Given the description of an element on the screen output the (x, y) to click on. 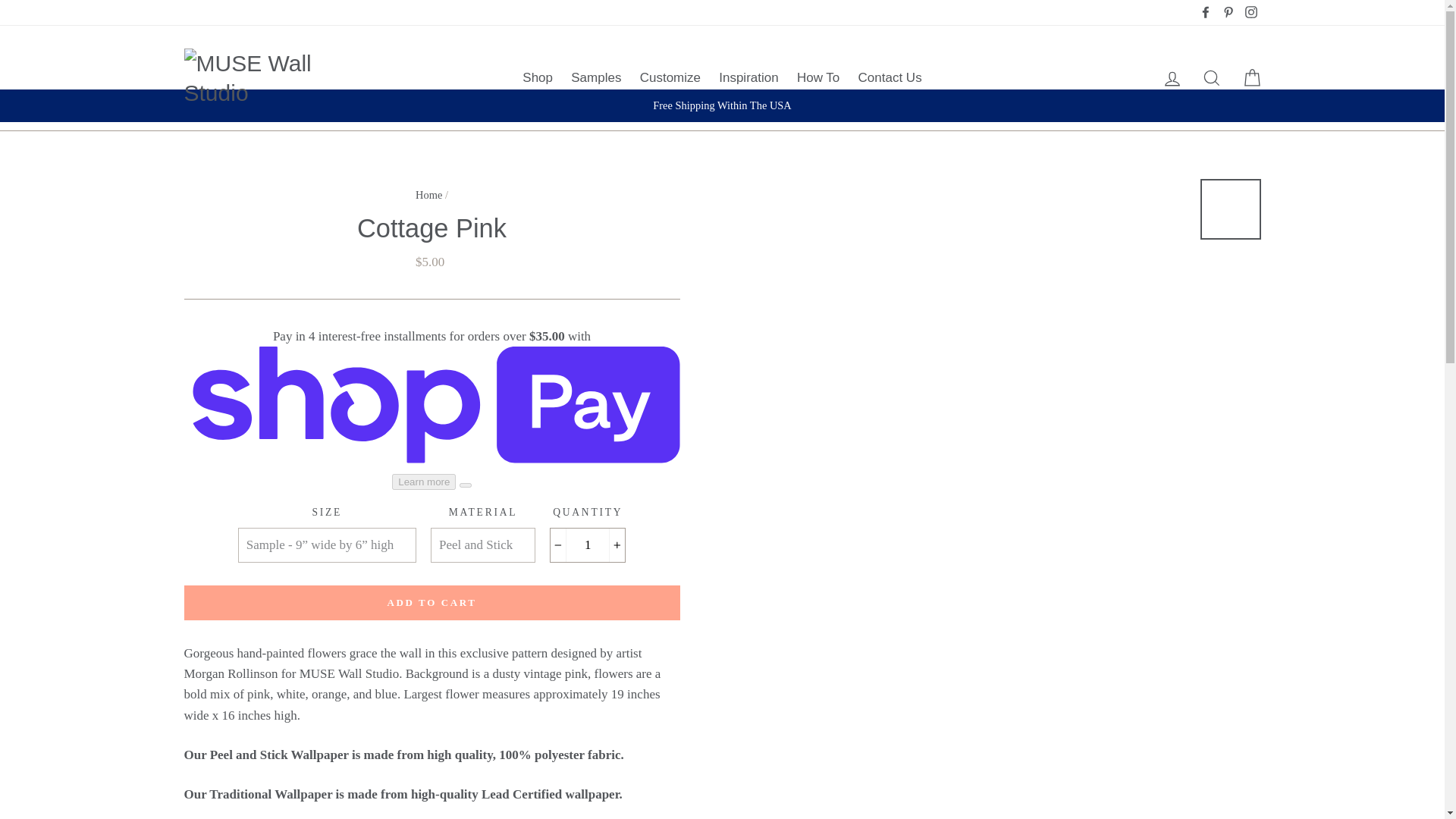
1 (587, 544)
Back to the frontpage (428, 194)
